Given the description of an element on the screen output the (x, y) to click on. 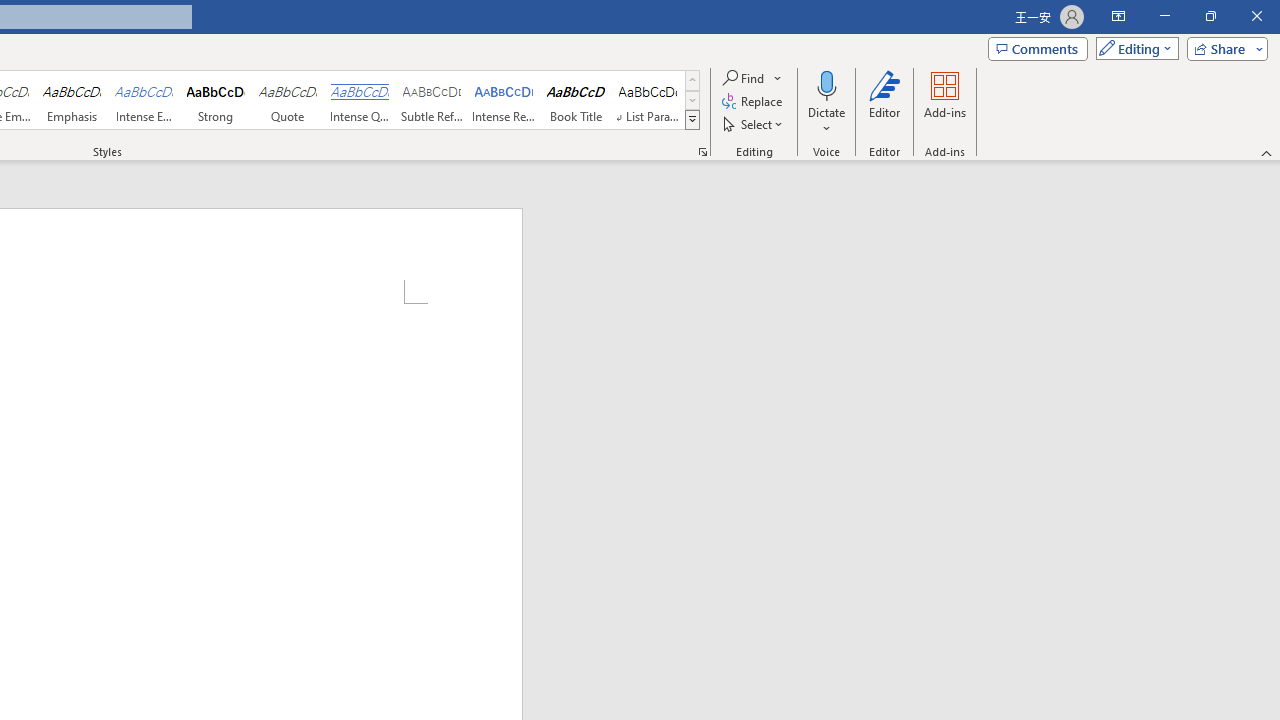
Intense Quote (359, 100)
Replace... (753, 101)
Quote (287, 100)
Book Title (575, 100)
